Given the description of an element on the screen output the (x, y) to click on. 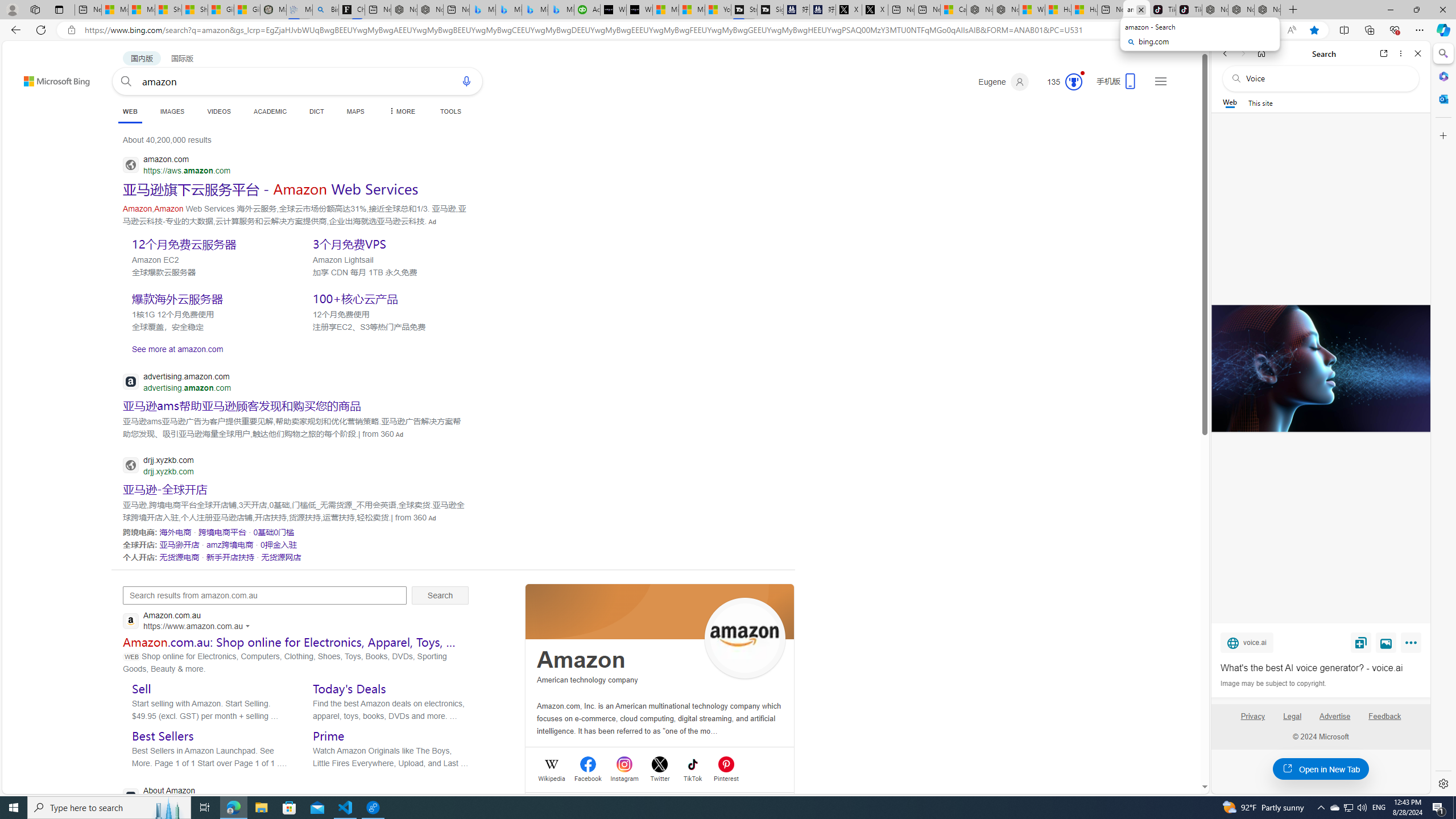
DICT (316, 111)
Microsoft Rewards 132 (1059, 81)
See more images of Amazon (745, 638)
TOOLS (450, 111)
Wikipedia (551, 777)
Search button (126, 80)
VIDEOS (218, 111)
SERP,5547 (270, 189)
SERP,5569 (178, 544)
ACADEMIC (269, 111)
